Given the description of an element on the screen output the (x, y) to click on. 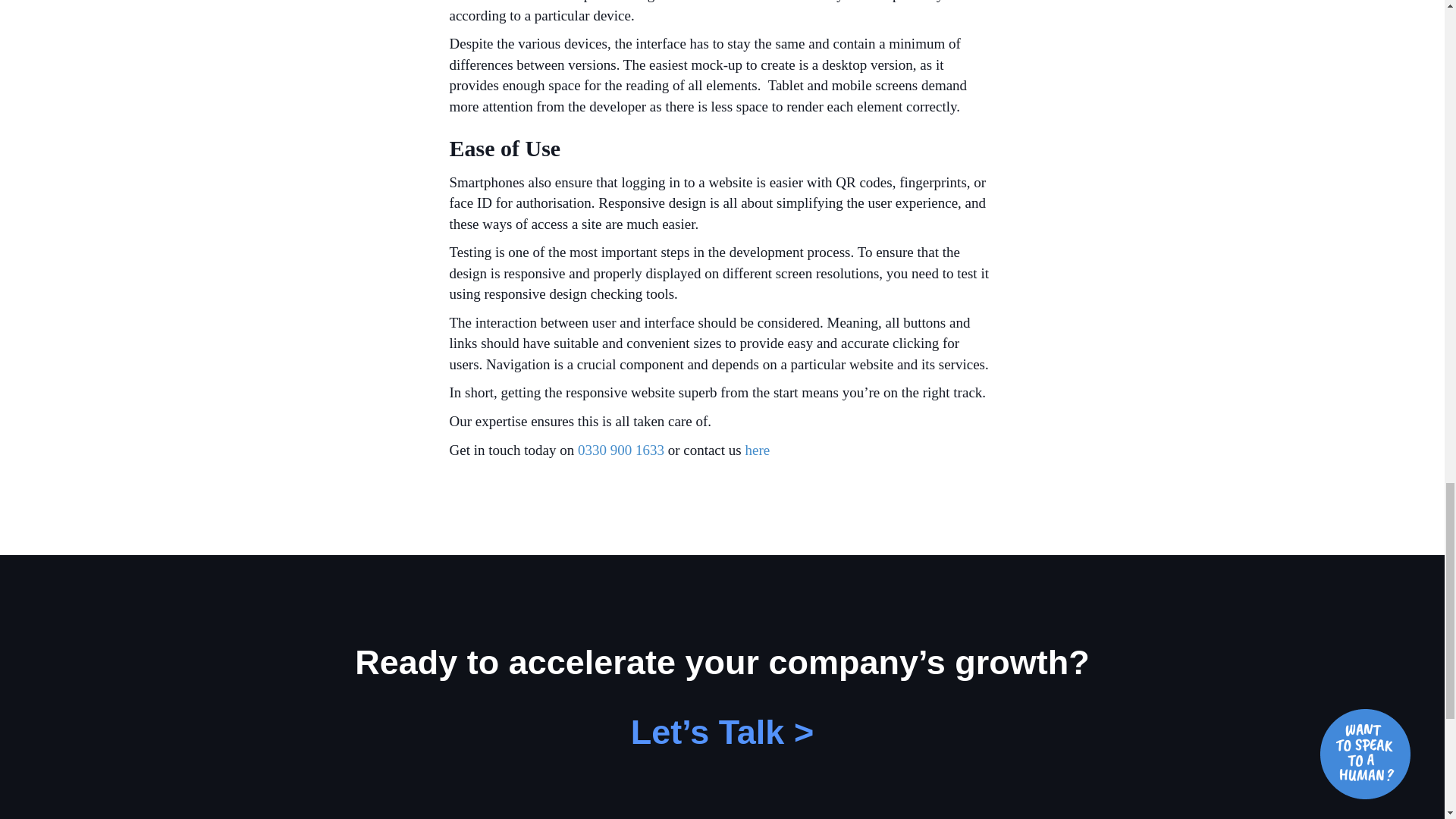
here (757, 449)
0330 900 1633 (618, 449)
